Given the description of an element on the screen output the (x, y) to click on. 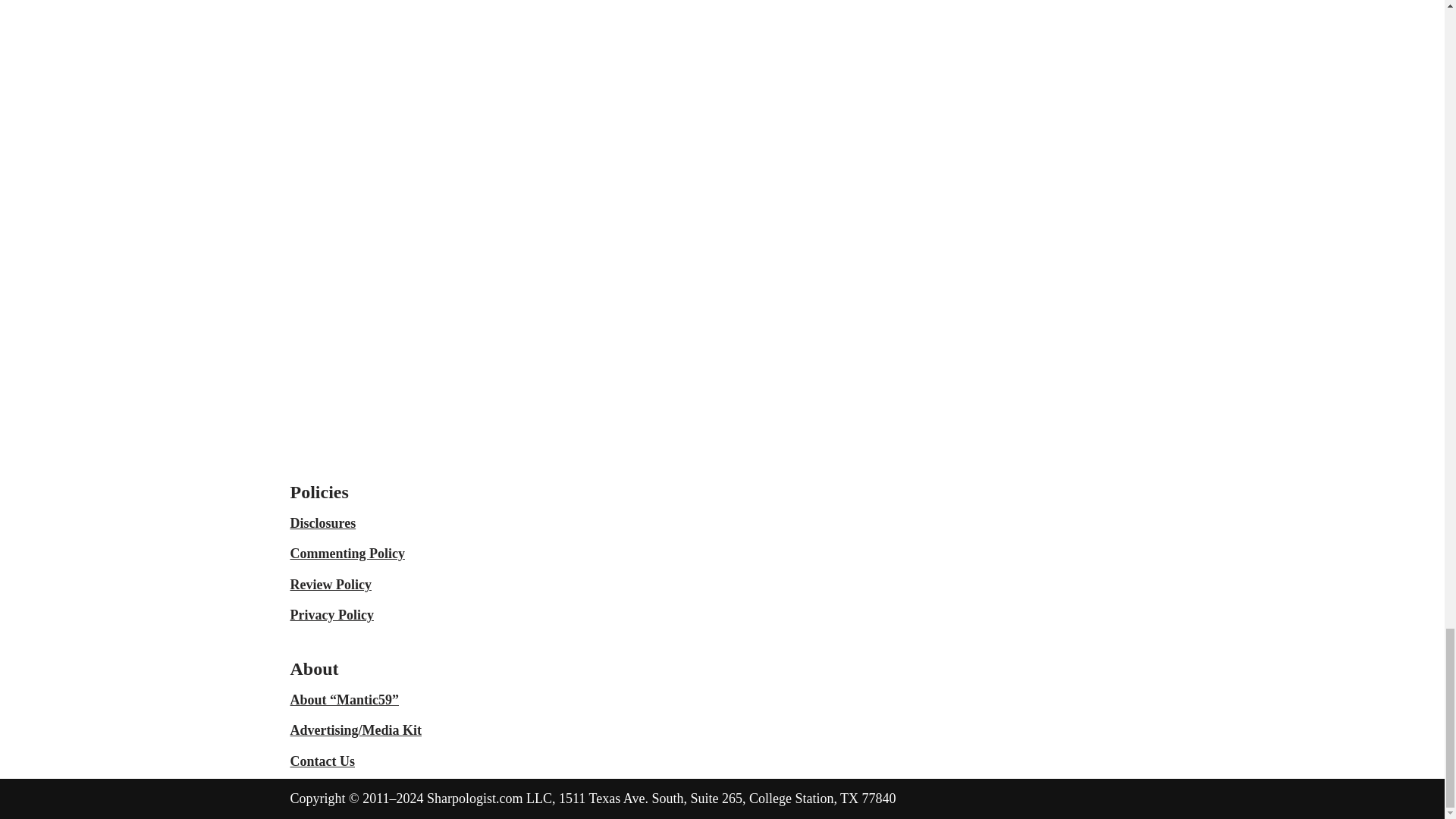
DMCA.com Protection Status (828, 456)
